Given the description of an element on the screen output the (x, y) to click on. 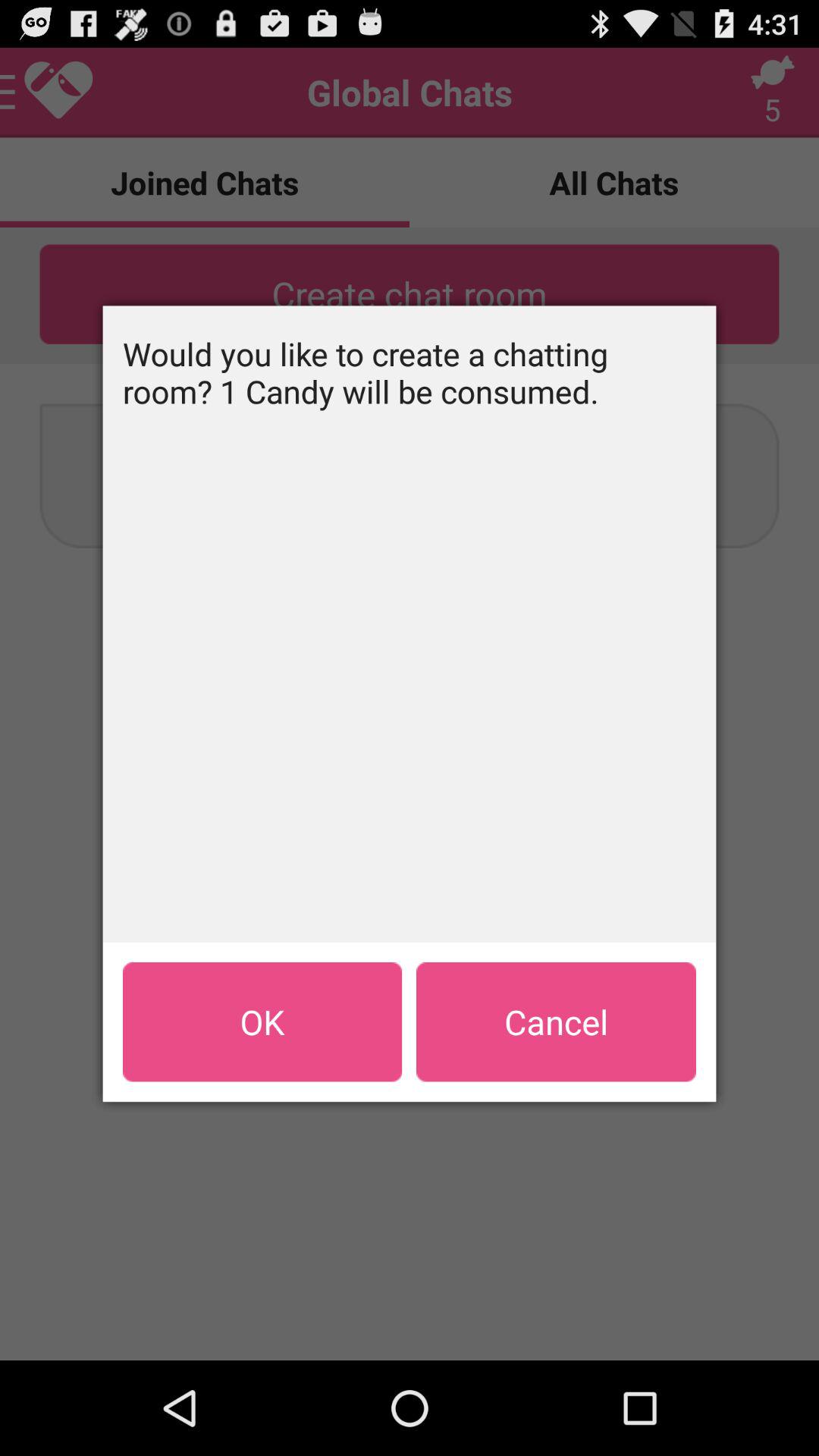
turn off app to the left of cancel icon (262, 1021)
